Given the description of an element on the screen output the (x, y) to click on. 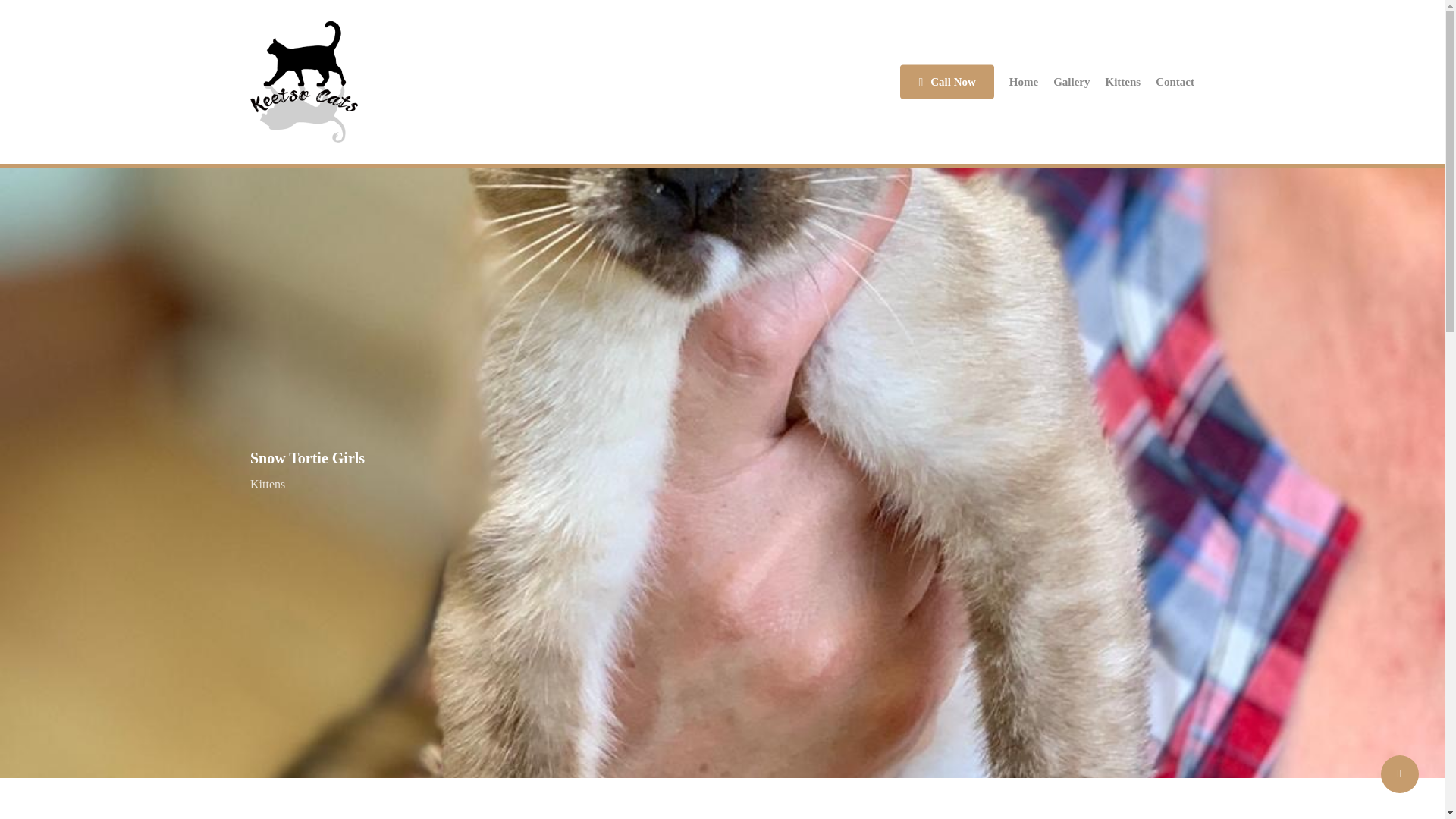
Call Now (945, 82)
Kittens (1123, 82)
Gallery (1070, 82)
Home (1023, 82)
Kittens (267, 483)
Contact (1174, 82)
